Given the description of an element on the screen output the (x, y) to click on. 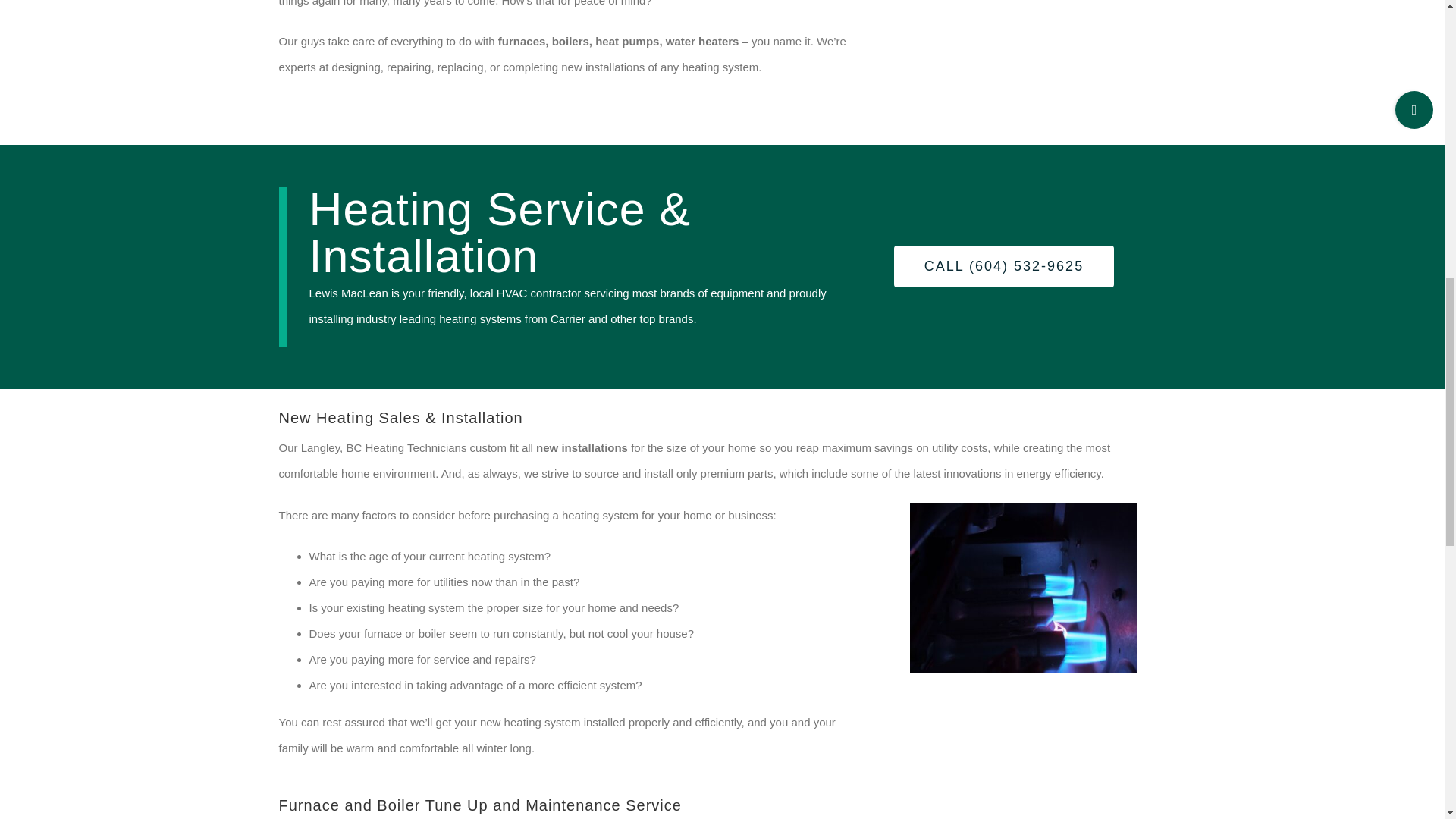
qtq80-tOtkL3 (1023, 587)
